Given the description of an element on the screen output the (x, y) to click on. 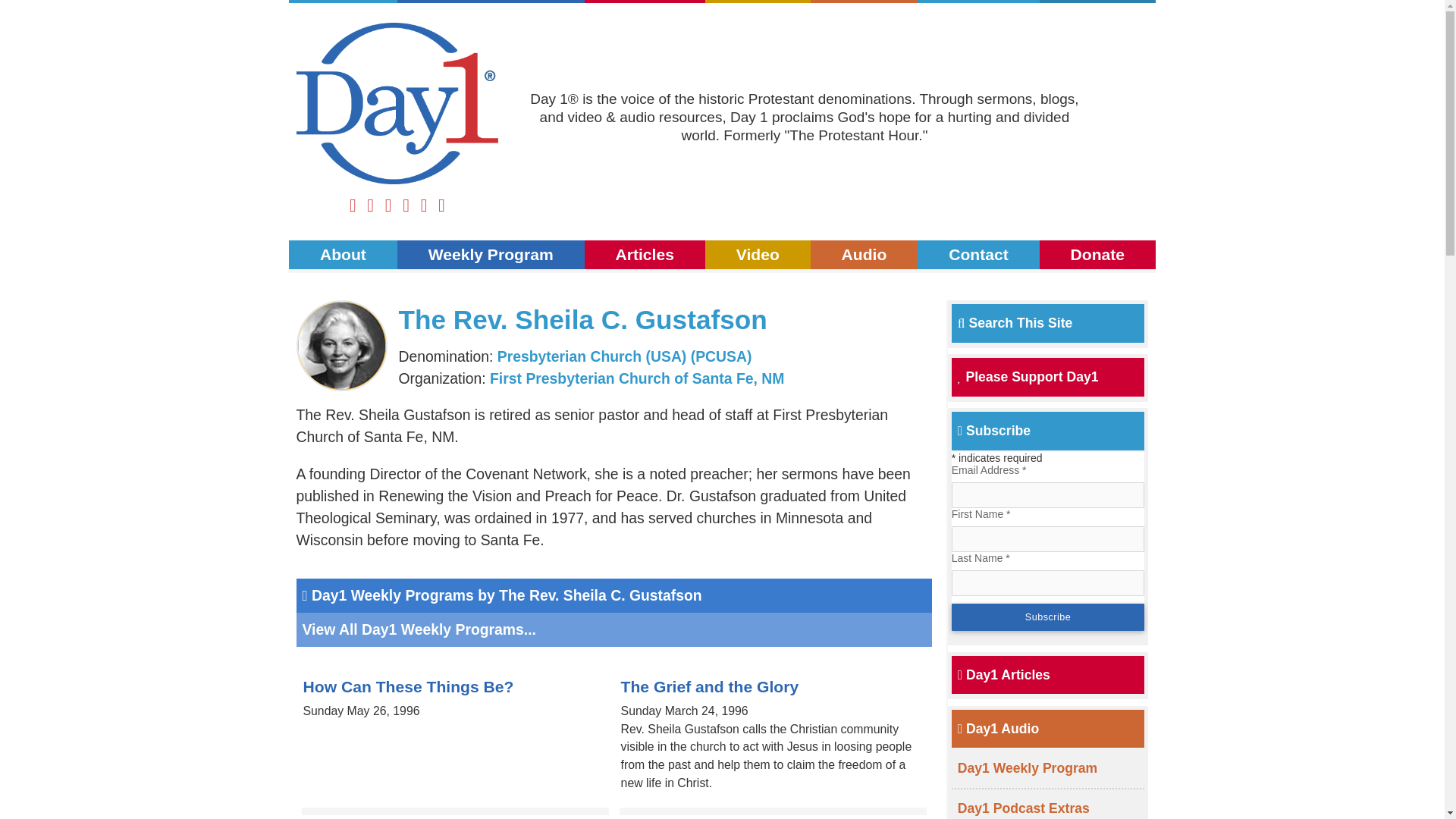
Donate (1097, 1)
How Can These Things Be? (407, 686)
About (342, 1)
Subscribe (1048, 616)
Audio (864, 1)
Day1 Articles (1003, 674)
Weekly Program (491, 254)
Video (757, 1)
Contact Day1 (978, 1)
Day1 Weekly Program (491, 1)
Please Support Day1 (1028, 376)
The Grief and the Glory (710, 686)
Contact (978, 254)
Weekly Program (491, 1)
Contact Day1 (978, 254)
